Given the description of an element on the screen output the (x, y) to click on. 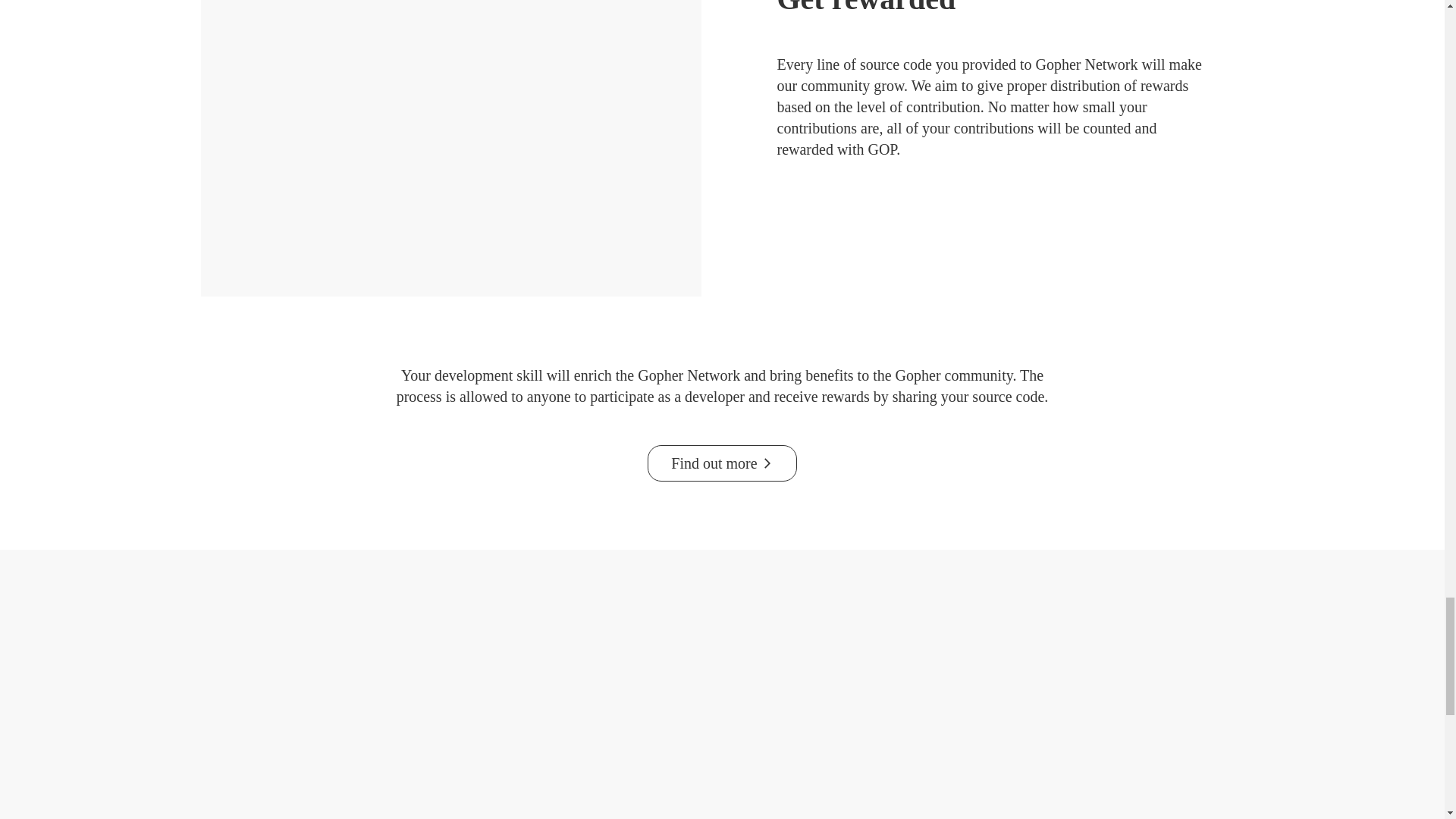
Find out more (721, 463)
